Given the description of an element on the screen output the (x, y) to click on. 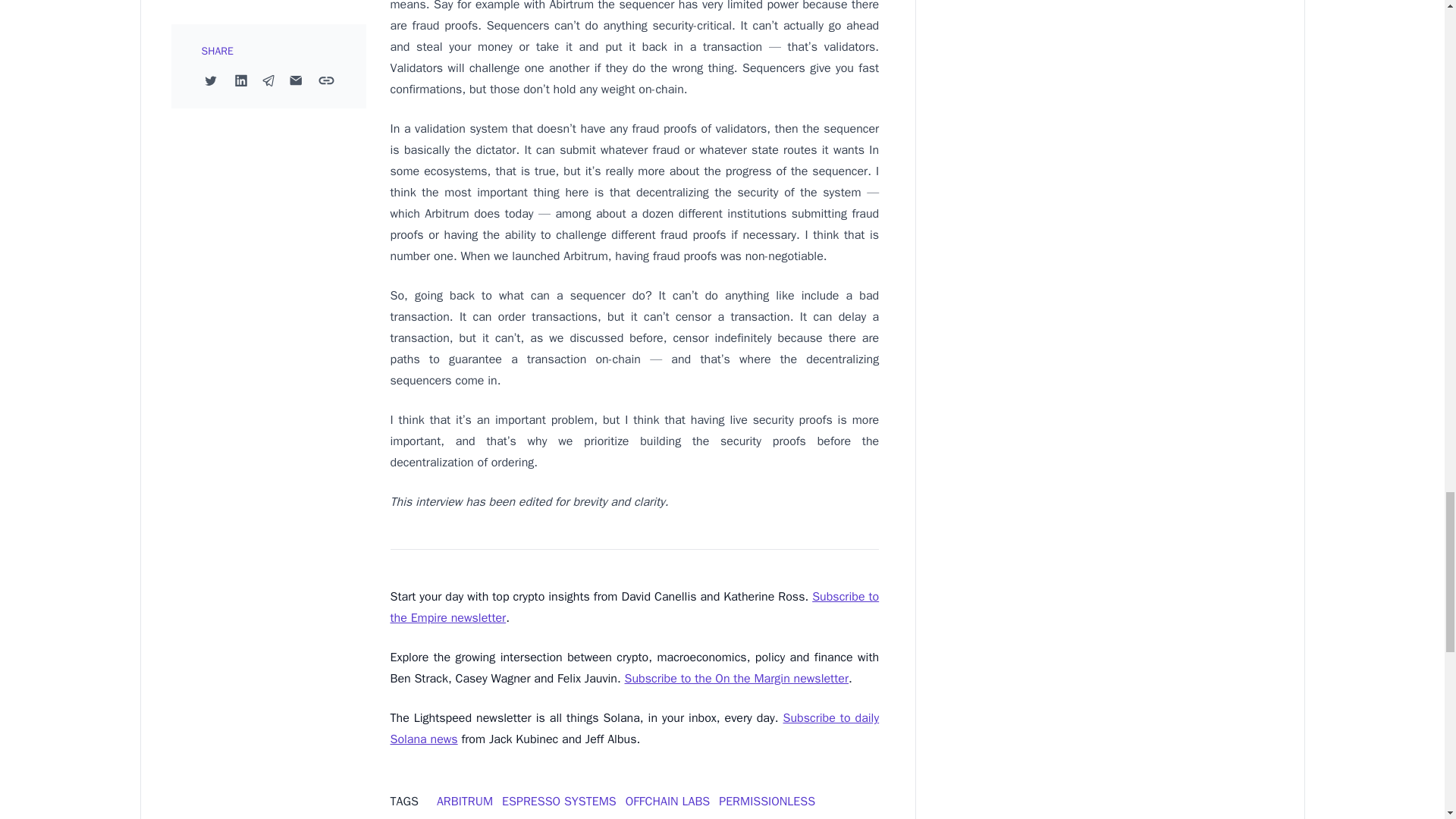
OFFCHAIN LABS (668, 801)
ESPRESSO SYSTEMS (558, 801)
PERMISSIONLESS (767, 801)
ARBITRUM (464, 801)
Subscribe to the Empire newsletter (634, 606)
Subscribe to daily Solana news (634, 728)
Subscribe to the On the Margin newsletter (736, 678)
